Given the description of an element on the screen output the (x, y) to click on. 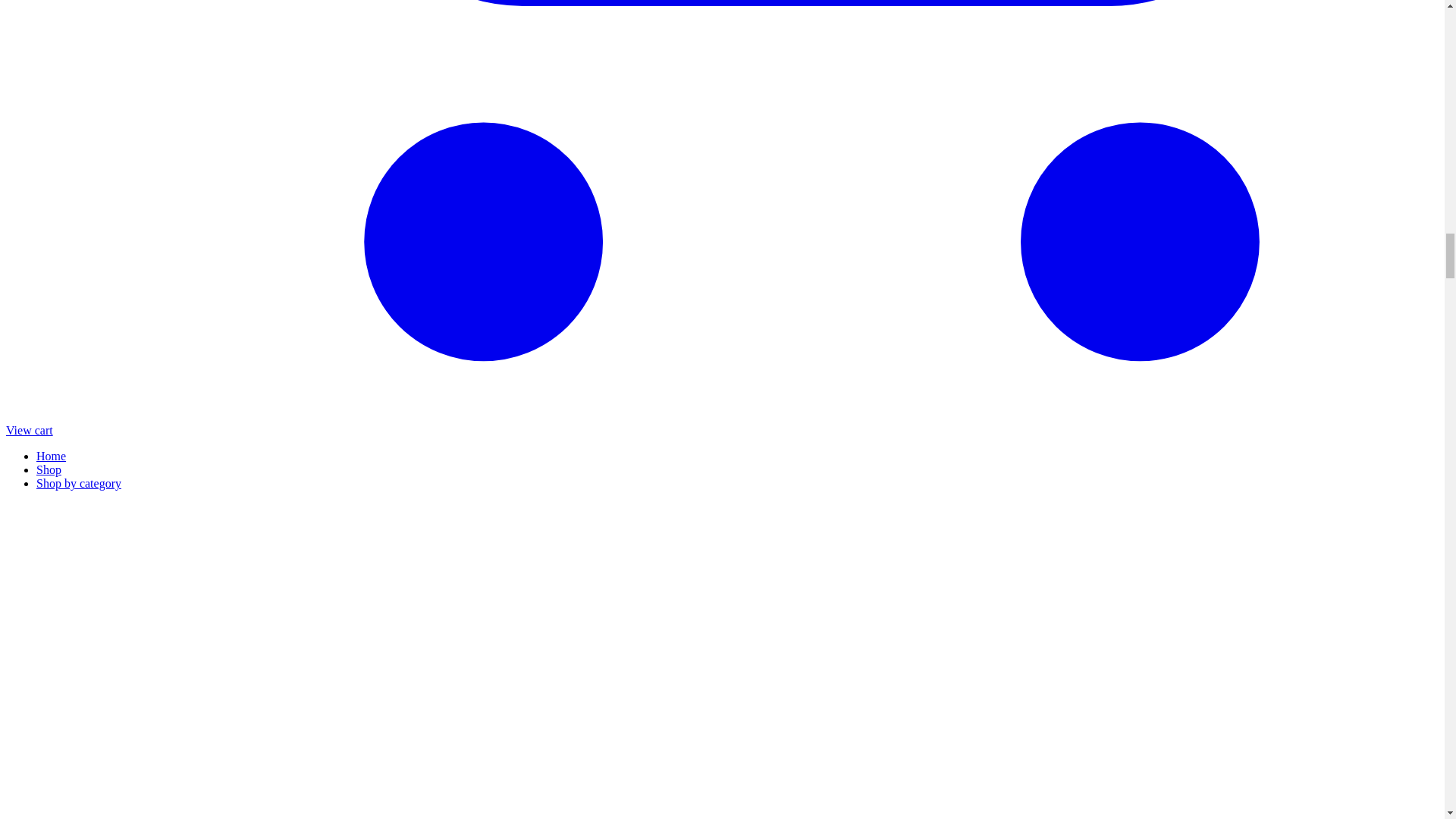
Shop (48, 469)
Home (50, 455)
